Given the description of an element on the screen output the (x, y) to click on. 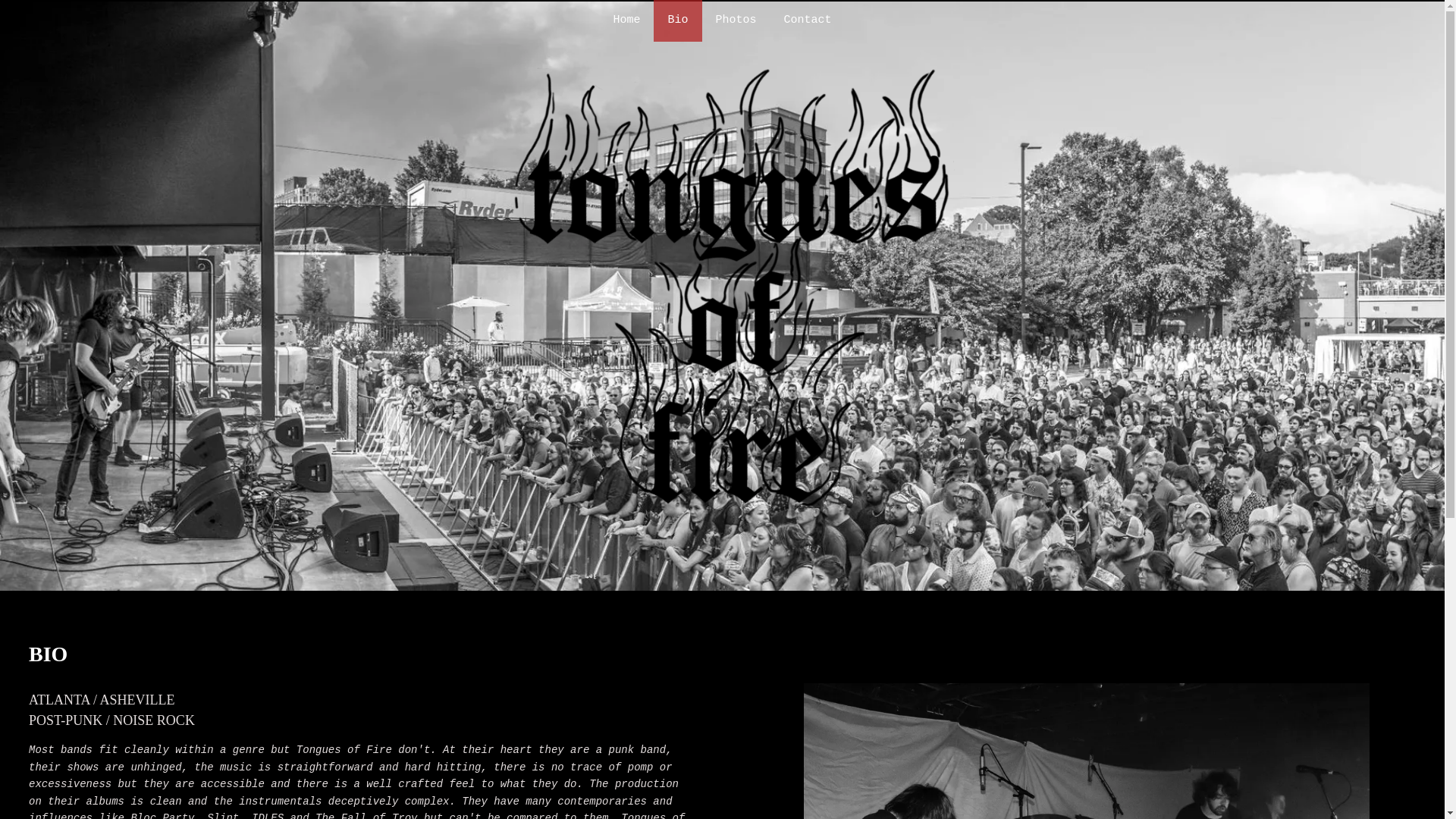
Bio (677, 20)
Contact (807, 20)
Photos (735, 20)
Home (625, 20)
